Given the description of an element on the screen output the (x, y) to click on. 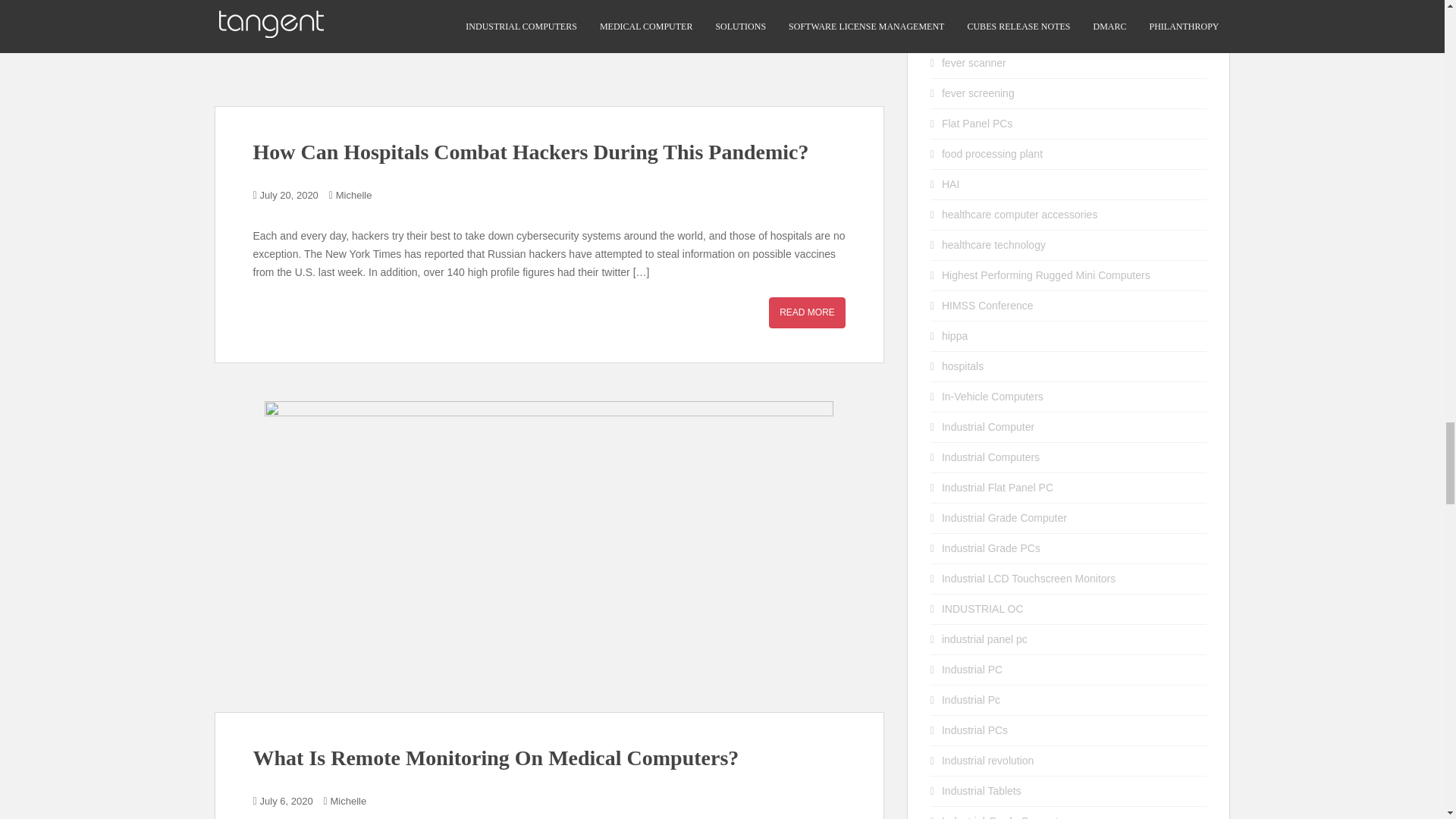
How Can Hospitals Combat Hackers During This Pandemic? (548, 53)
How Can Hospitals Combat Hackers During This Pandemic? (806, 312)
